Given the description of an element on the screen output the (x, y) to click on. 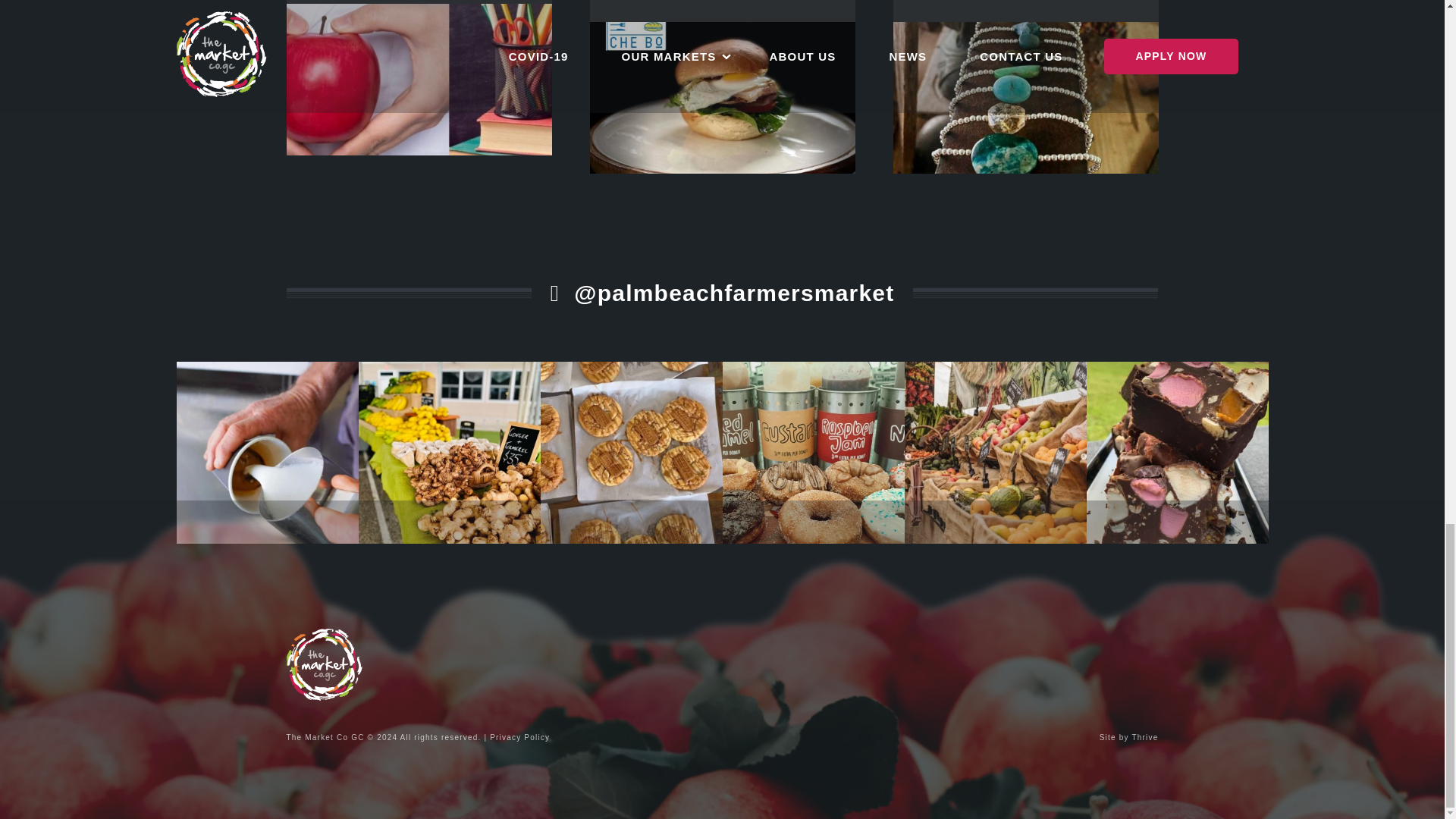
ornament Created with Sketch. (408, 292)
Privacy Policy (519, 737)
ornament Created with Sketch. (1034, 292)
Thrive (1145, 737)
